Given the description of an element on the screen output the (x, y) to click on. 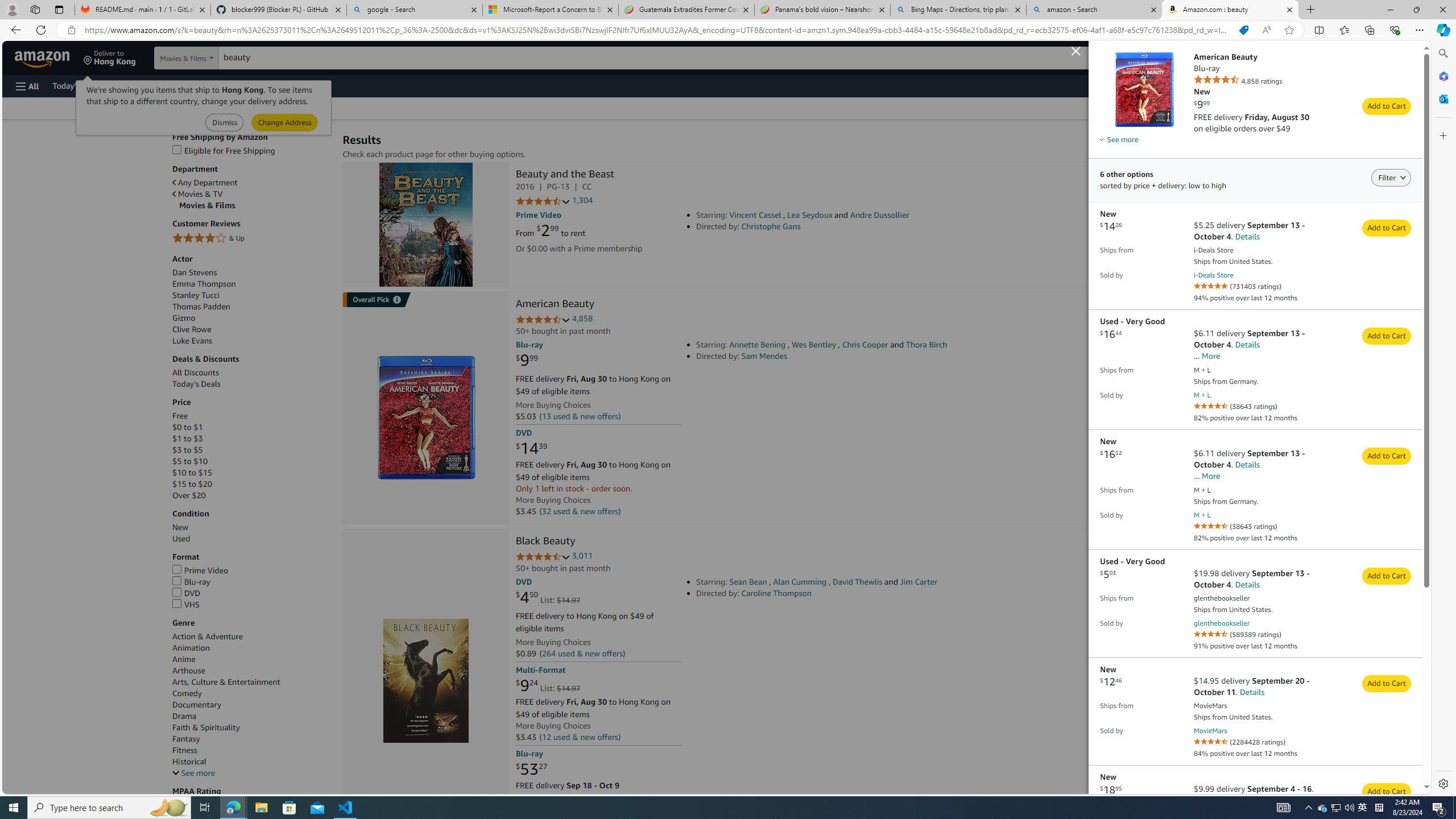
Collections (1369, 29)
Prime Video (199, 570)
Faith & Spirituality (205, 727)
Search (1442, 53)
Anime (251, 659)
